Given the description of an element on the screen output the (x, y) to click on. 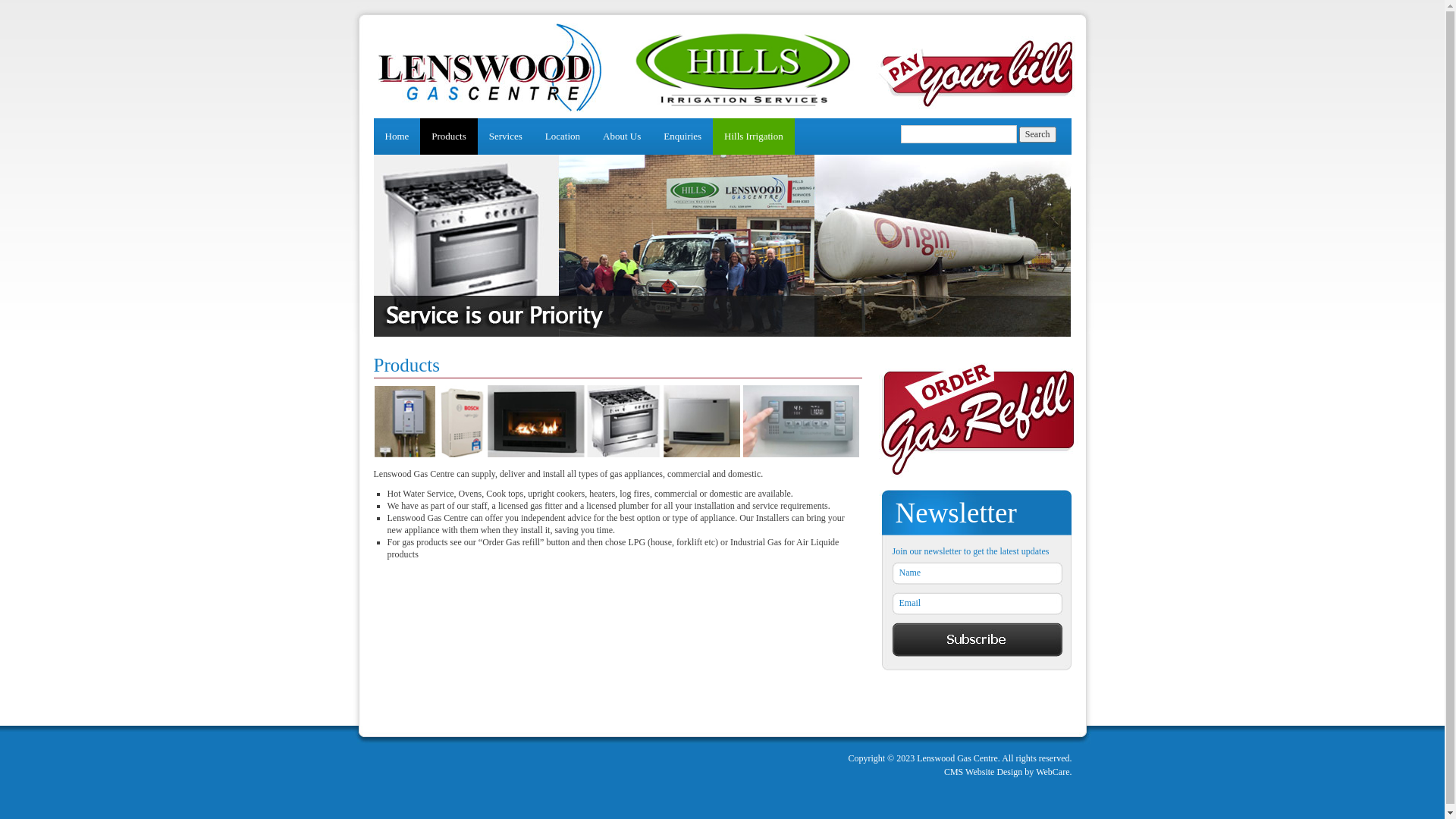
Lenswood Gas Centre Element type: hover (489, 108)
Search Element type: text (1037, 134)
Products Element type: text (448, 136)
Hills Irrigation Element type: hover (732, 106)
Home Element type: text (396, 136)
Location Element type: text (562, 136)
About Us Element type: text (621, 136)
Services Element type: text (505, 136)
Lenswood Gas Centre Element type: hover (974, 106)
Hills Irrigation Element type: text (753, 136)
Enquiries Element type: text (682, 136)
CMS Website Design by WebCare. Element type: text (1000, 771)
